Given the description of an element on the screen output the (x, y) to click on. 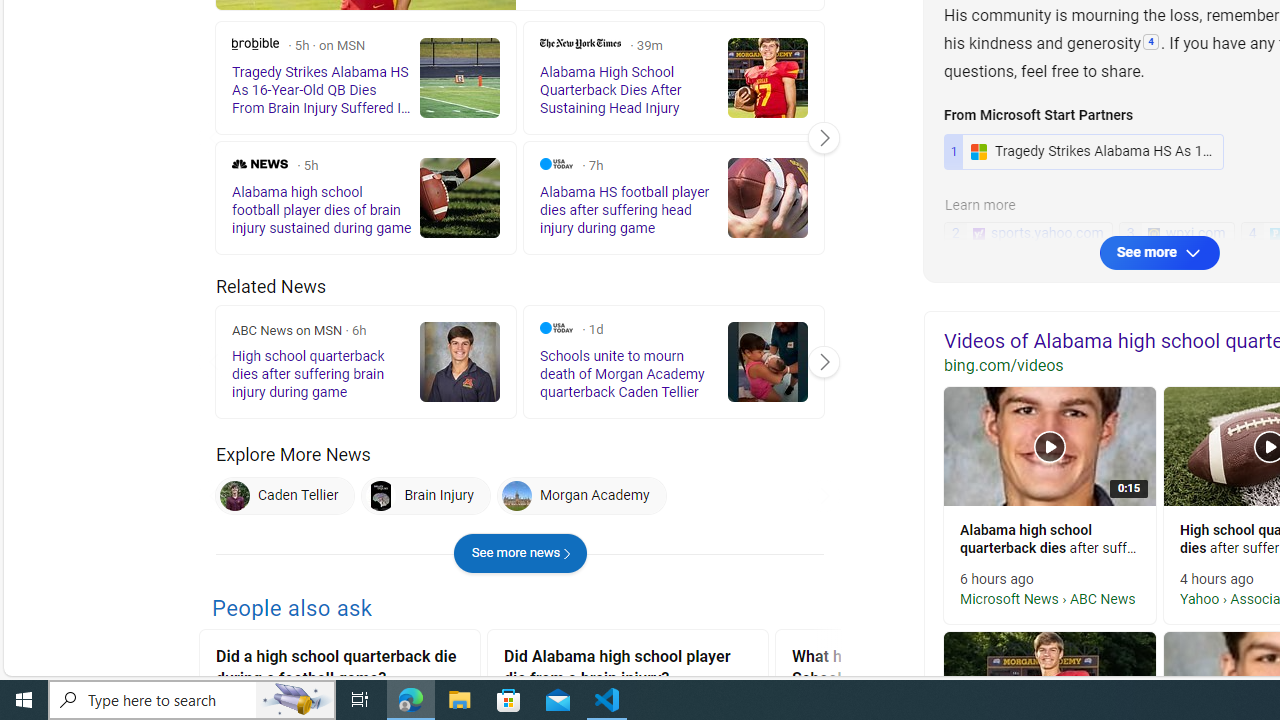
Brain Injury (381, 495)
Related News (271, 286)
Morgan Academy Morgan Academy (580, 496)
Morgan Academy (580, 496)
Brain Injury (426, 496)
